Given the description of an element on the screen output the (x, y) to click on. 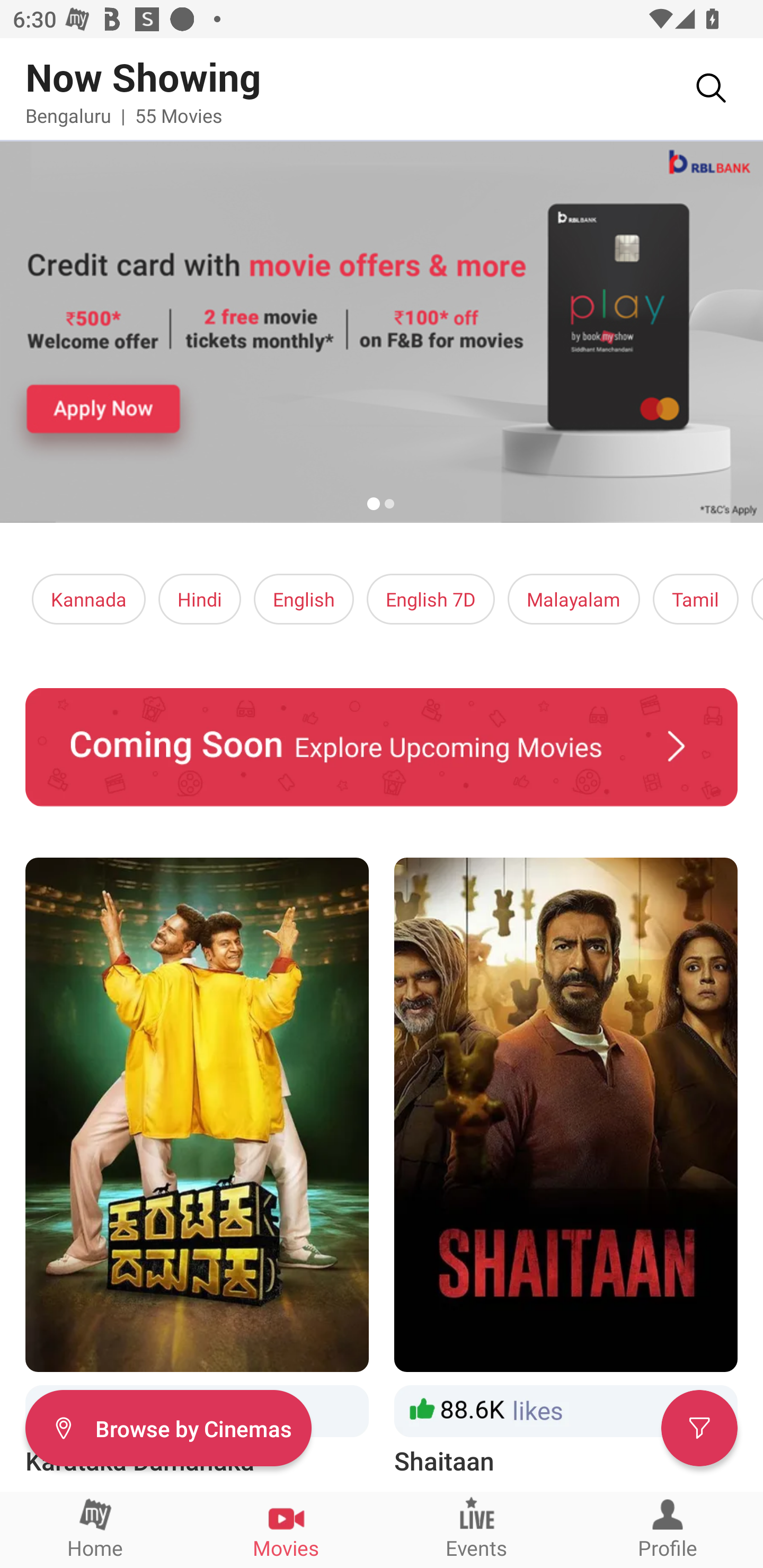
Bengaluru  |  55 Movies (123, 114)
Kannada (88, 598)
Hindi (199, 598)
English (304, 598)
English 7D (431, 598)
Malayalam (573, 598)
Tamil (695, 598)
Karataka Damanaka (196, 1167)
Shaitaan (565, 1167)
Filter Browse by Cinemas (168, 1427)
Filter (699, 1427)
Home (95, 1529)
Movies (285, 1529)
Events (476, 1529)
Profile (667, 1529)
